Given the description of an element on the screen output the (x, y) to click on. 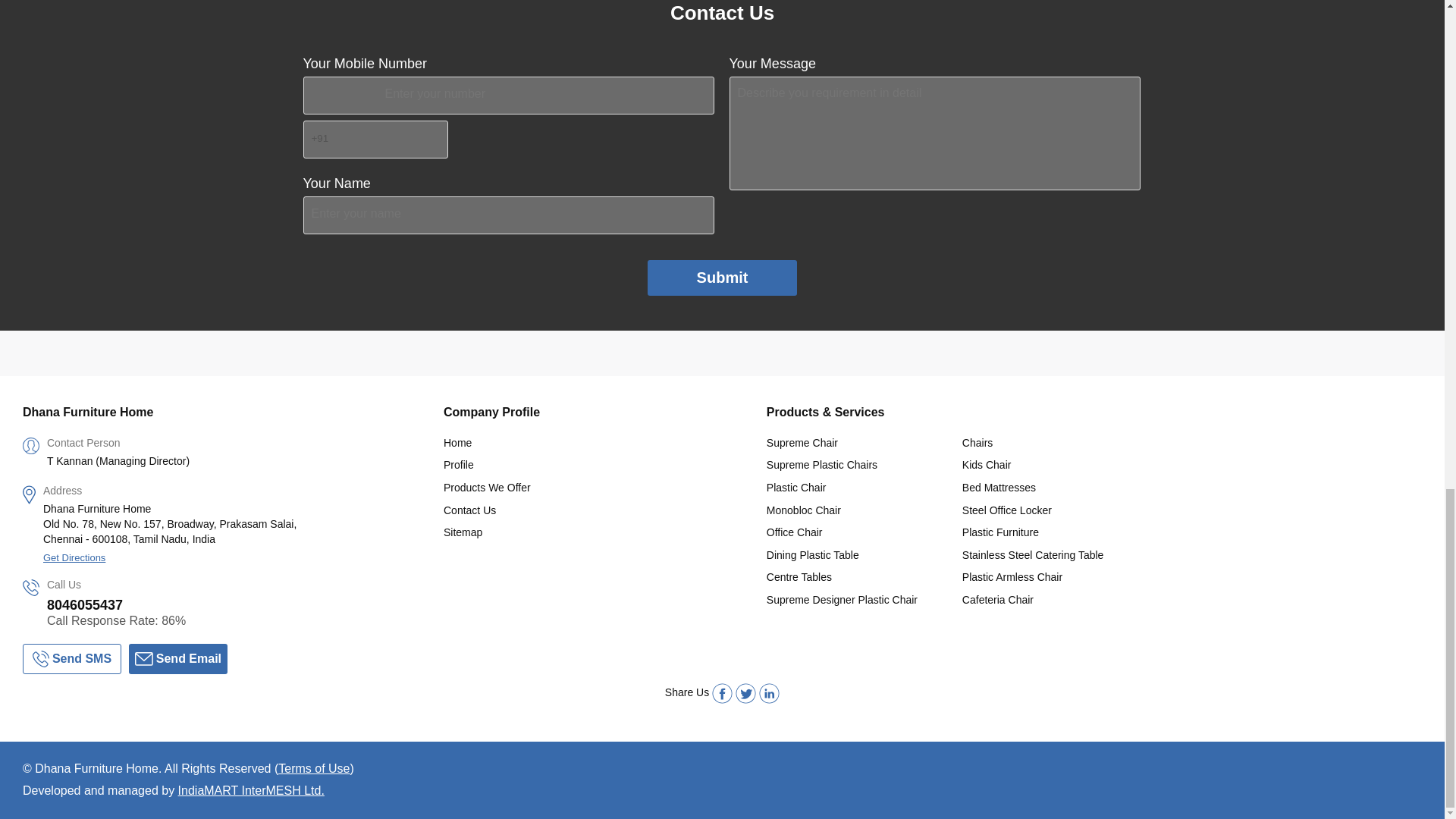
Submit (722, 277)
